Given the description of an element on the screen output the (x, y) to click on. 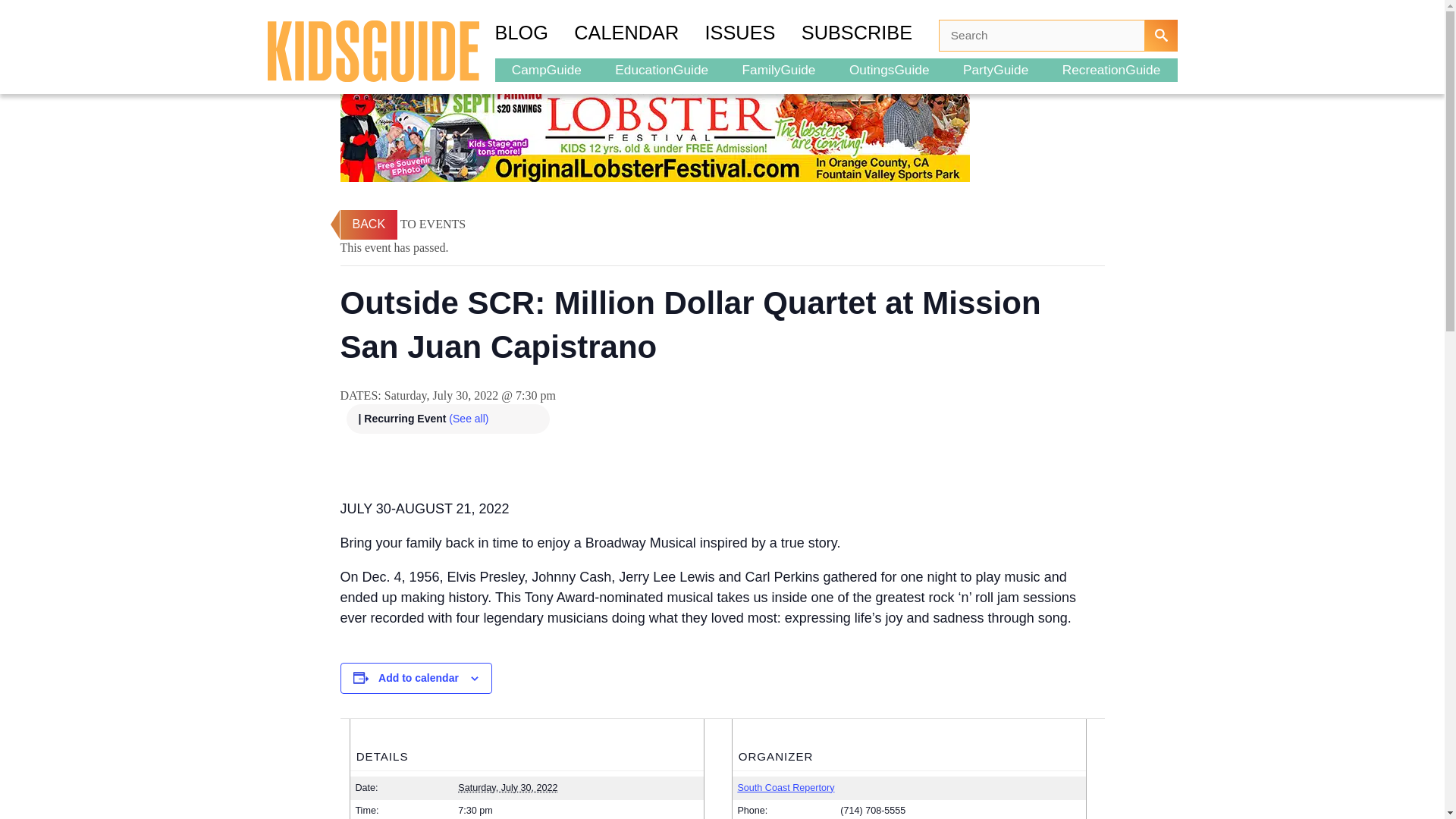
SUBSCRIBE (870, 35)
EducationGuide (661, 69)
ISSUES (753, 35)
OutingsGuide (889, 69)
2022-07-30 (507, 787)
South Coast Repertory (785, 787)
2022-07-30 (578, 811)
FamilyGuide (778, 69)
BLOG (534, 35)
CALENDAR (638, 35)
